Given the description of an element on the screen output the (x, y) to click on. 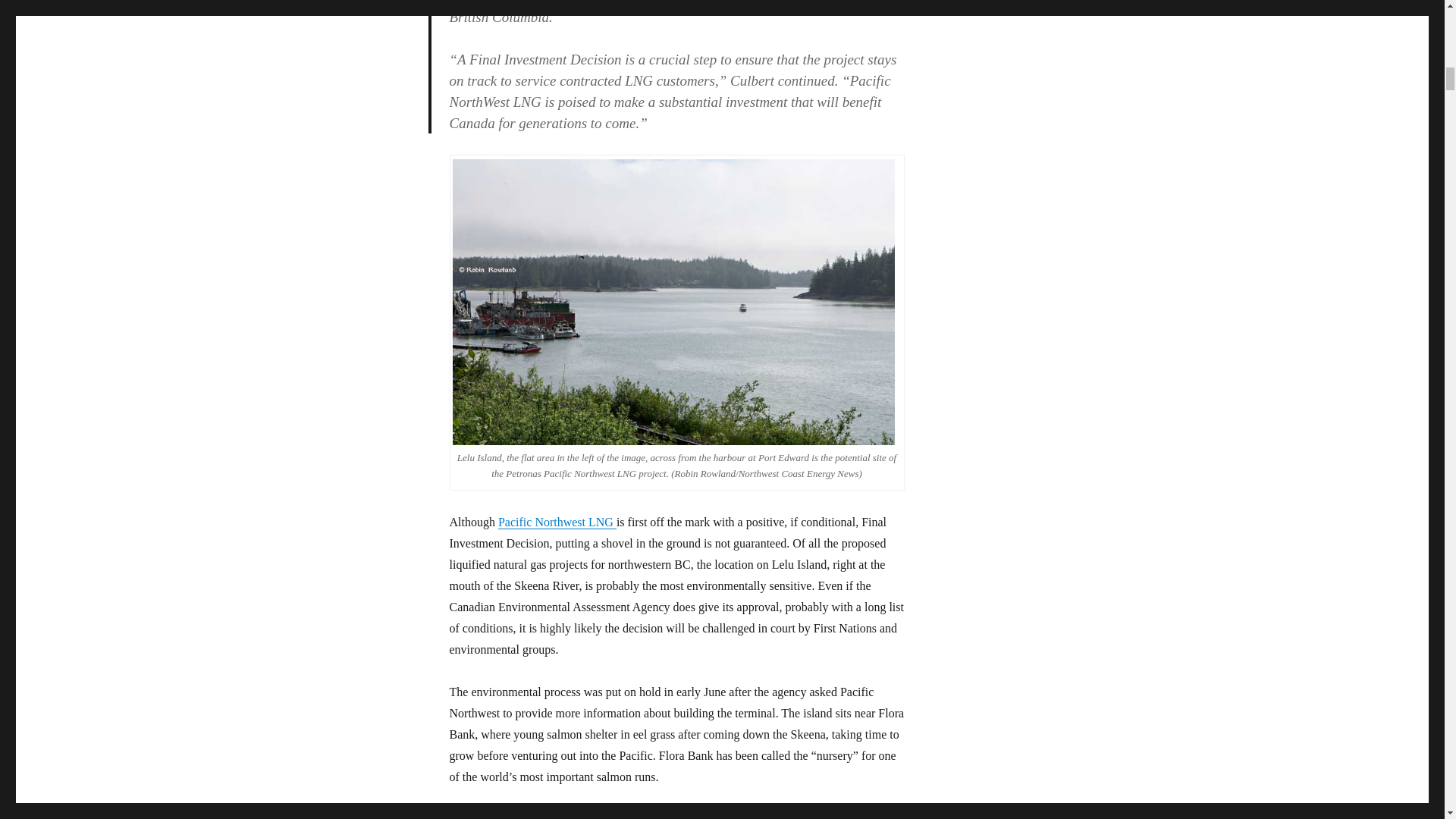
Pacific Northwest LNG (556, 521)
